Given the description of an element on the screen output the (x, y) to click on. 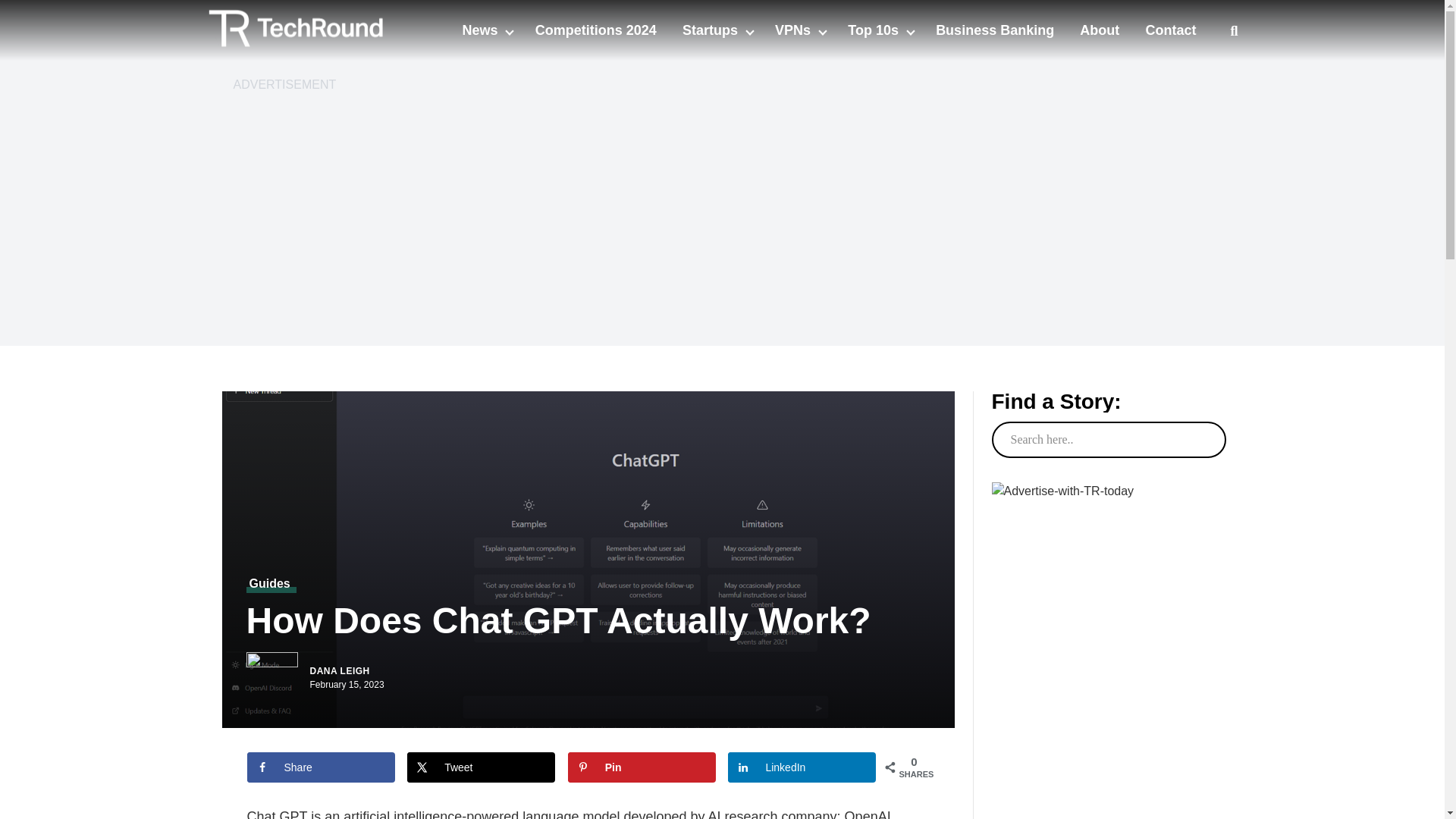
Competitions 2024 (596, 30)
VPNs (793, 30)
News (480, 30)
Share on X (390, 748)
Top 10s (874, 30)
Share on LinkedIn (623, 748)
Share on Facebook (275, 748)
Startups (711, 30)
Save to Pinterest (506, 748)
